Given the description of an element on the screen output the (x, y) to click on. 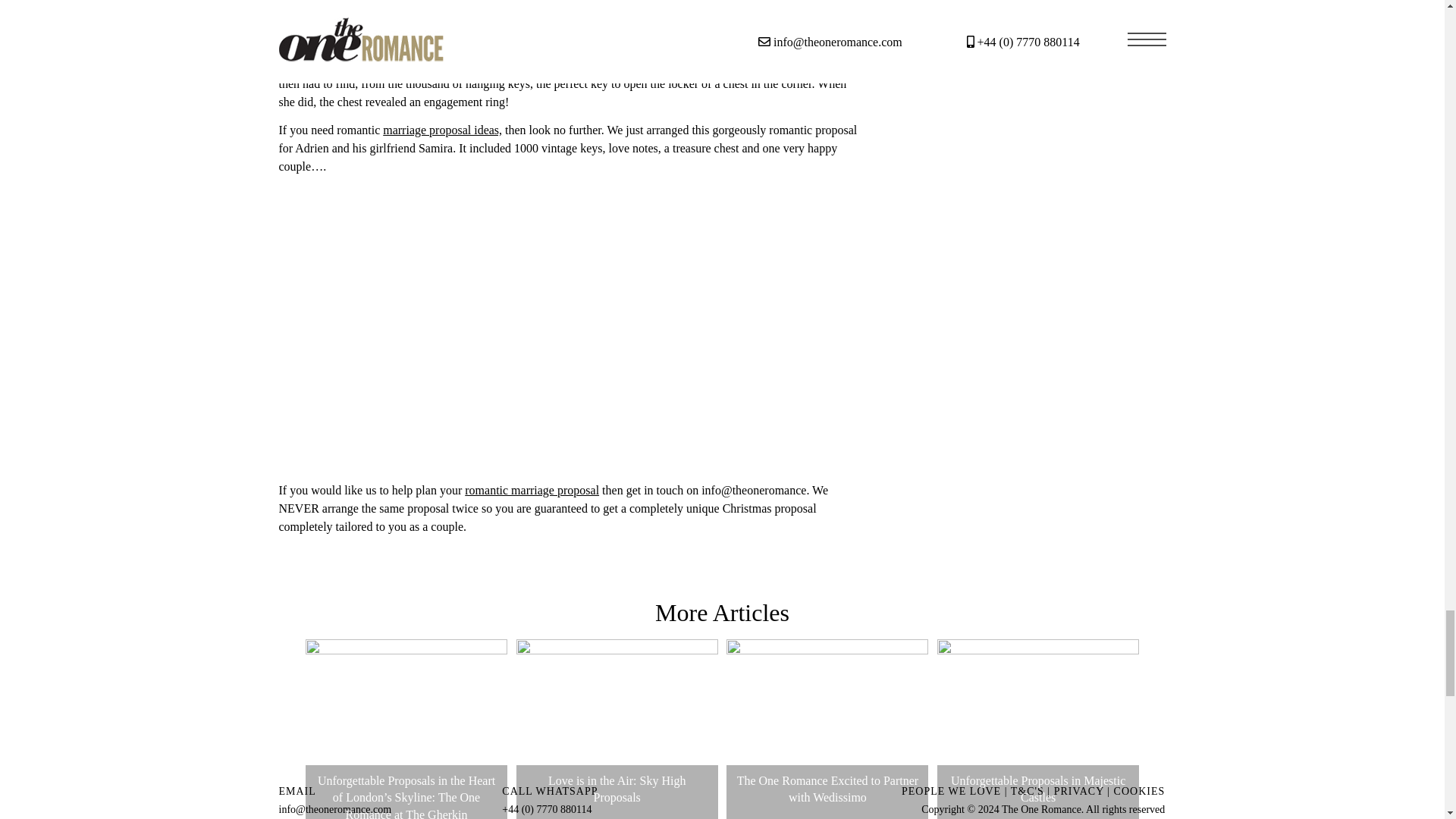
romantic marriage proposal (531, 490)
marriage proposal ideas, (442, 129)
